Given the description of an element on the screen output the (x, y) to click on. 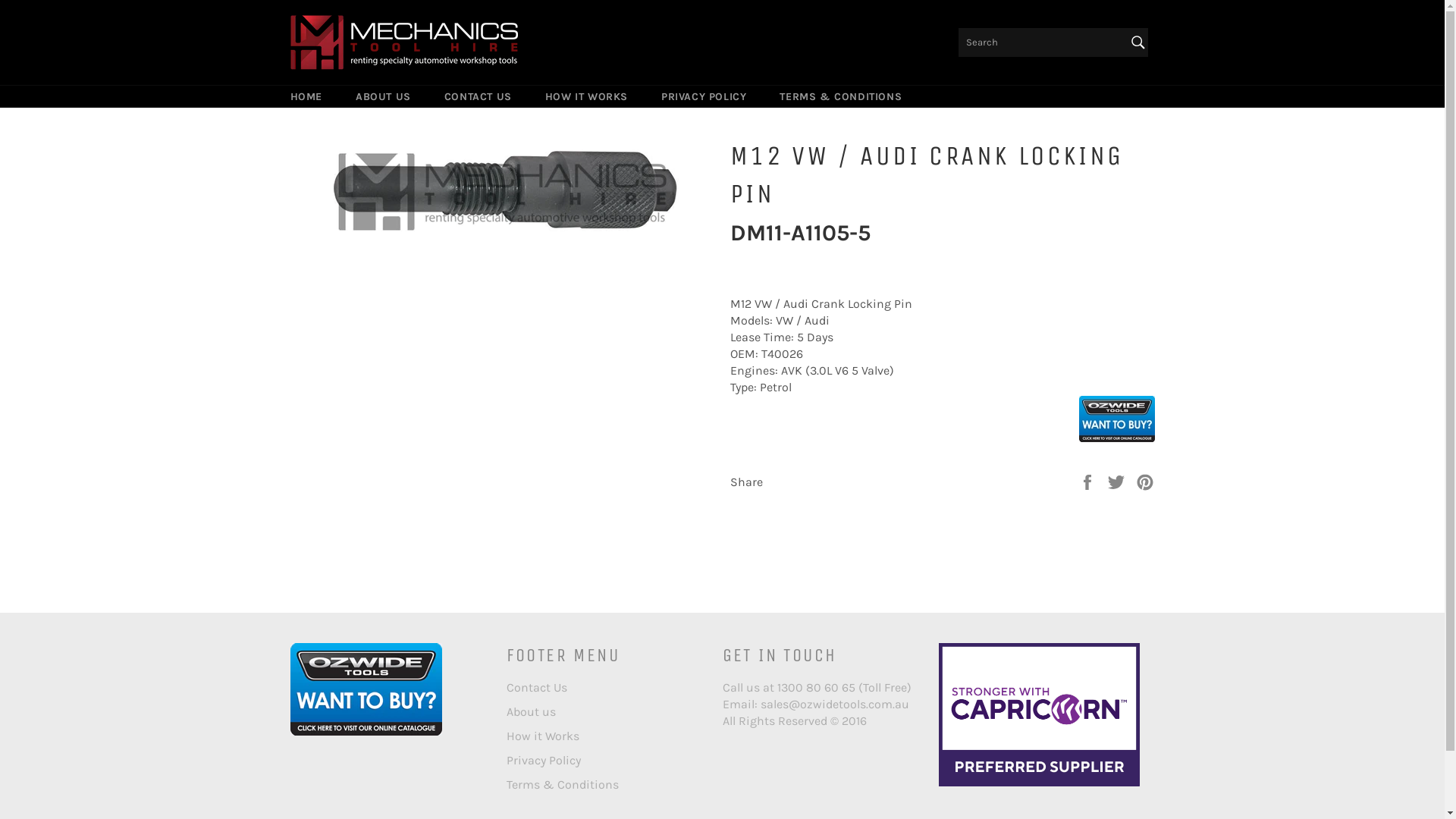
TERMS & CONDITIONS Element type: text (840, 96)
Tweet on Twitter Element type: text (1117, 480)
About us Element type: text (530, 711)
Terms & Conditions Element type: text (562, 784)
HOW IT WORKS Element type: text (586, 96)
Privacy Policy Element type: text (543, 760)
Contact Us Element type: text (536, 687)
Share on Facebook Element type: text (1088, 480)
CONTACT US Element type: text (478, 96)
ABOUT US Element type: text (383, 96)
HOME Element type: text (305, 96)
Pin on Pinterest Element type: text (1144, 480)
Search Element type: text (1138, 42)
How it Works Element type: text (542, 735)
PRIVACY POLICY Element type: text (703, 96)
